Given the description of an element on the screen output the (x, y) to click on. 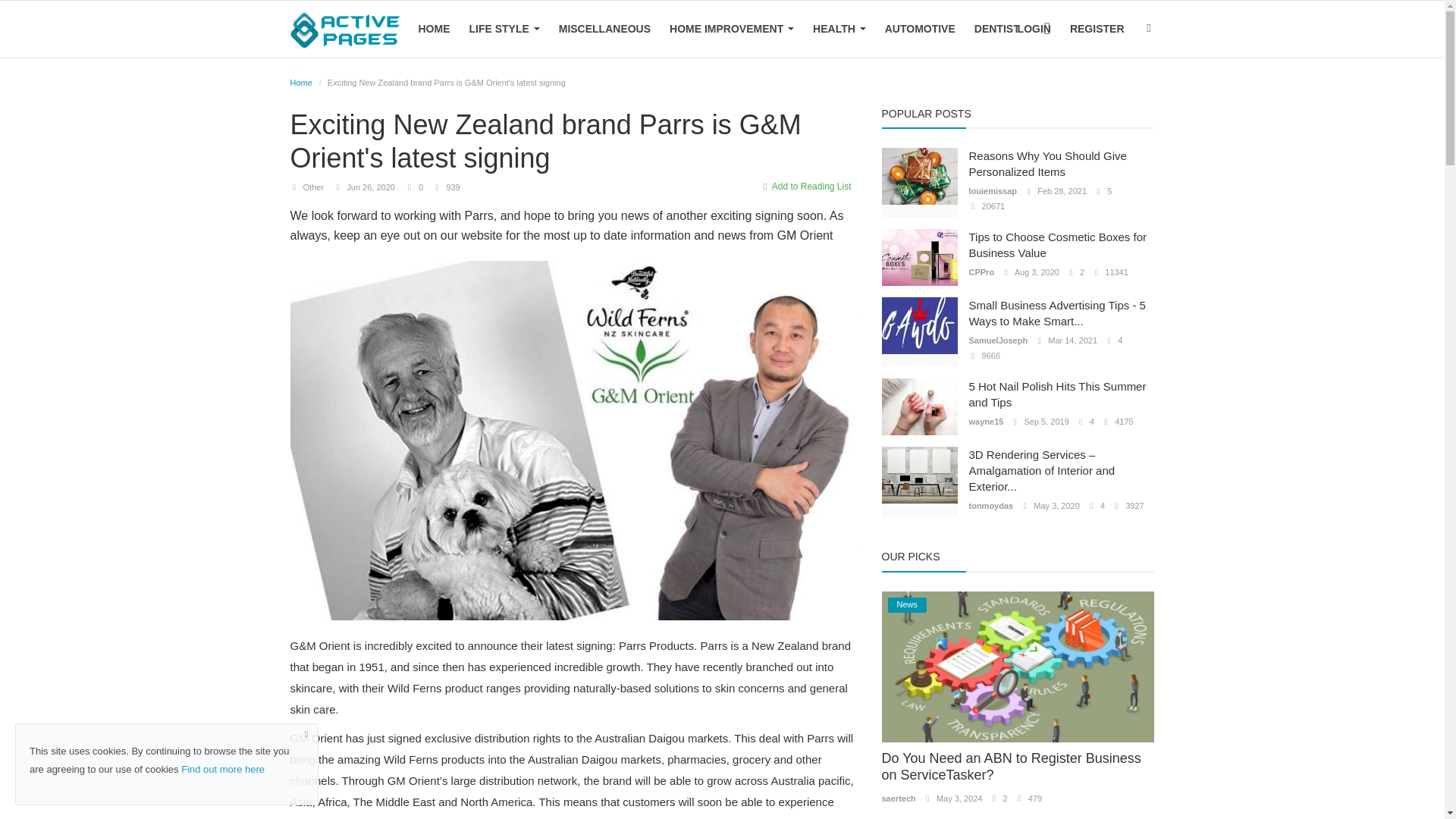
HOME IMPROVEMENT (732, 28)
REGISTER (1097, 28)
AUTOMOTIVE (919, 28)
MISCELLANEOUS (604, 28)
LIFE STYLE (504, 28)
DENTIST (996, 28)
HEALTH (839, 28)
